Given the description of an element on the screen output the (x, y) to click on. 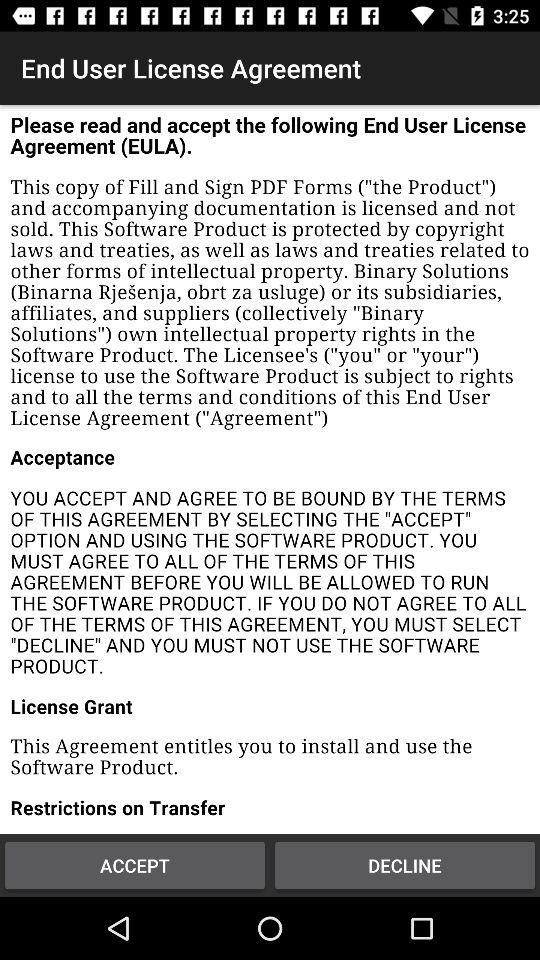
advertisement page (270, 469)
